Given the description of an element on the screen output the (x, y) to click on. 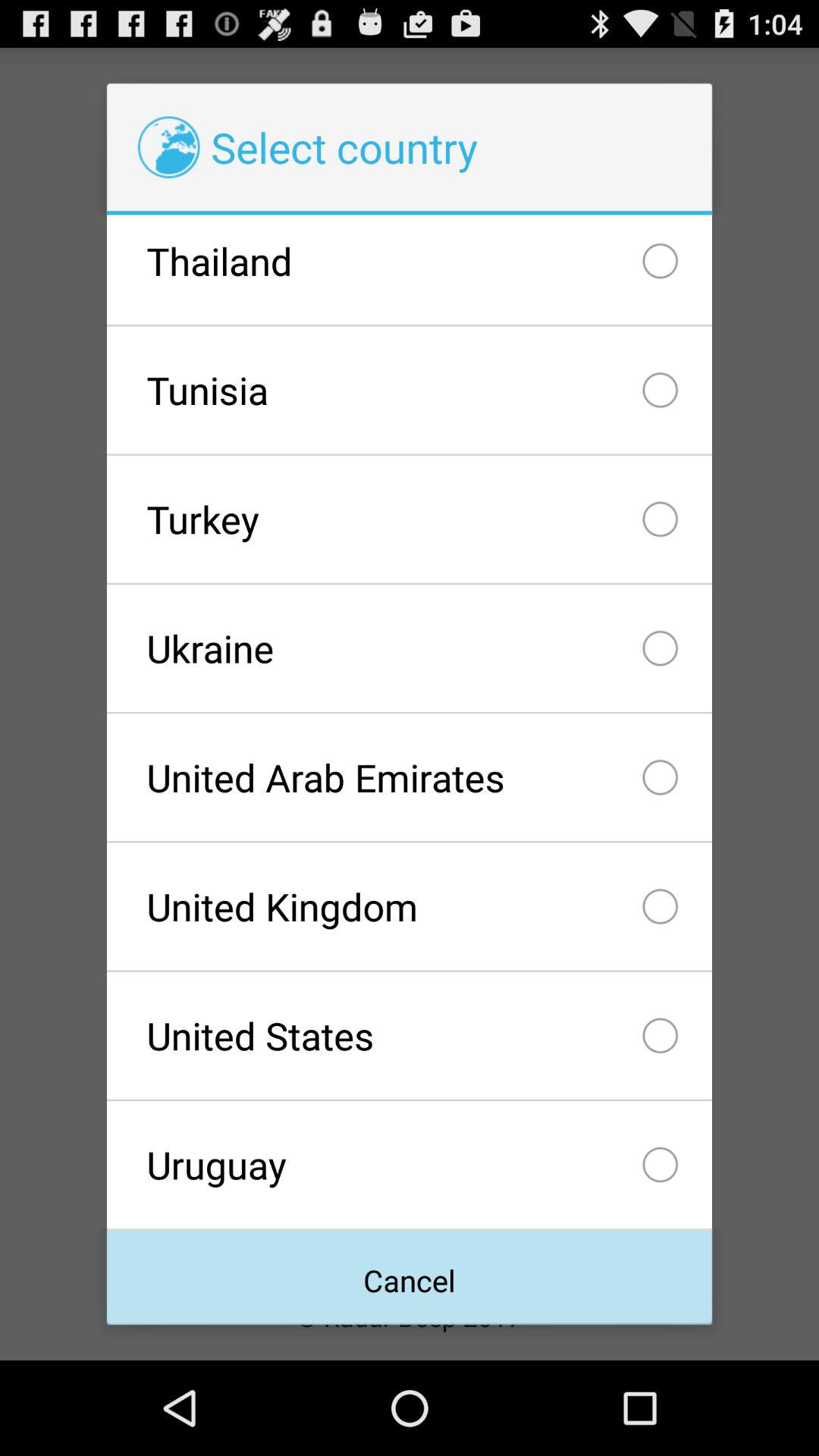
select icon below the tunisia icon (409, 518)
